Given the description of an element on the screen output the (x, y) to click on. 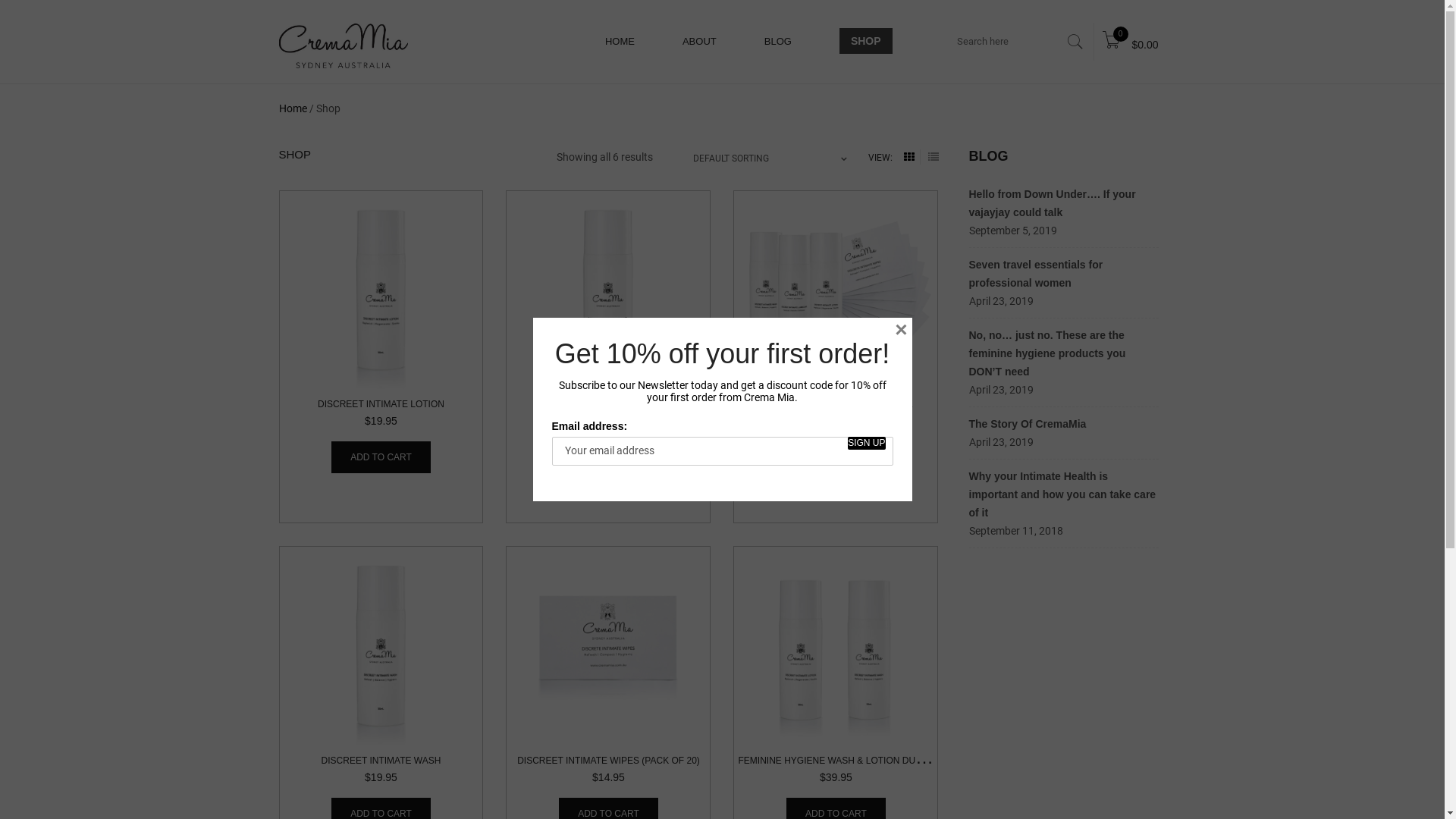
0
$0.00 Element type: text (1129, 41)
ADD TO CART Element type: text (380, 457)
DISCREET INTIMATE LUBRICANT Element type: text (608, 403)
ADD TO CART Element type: text (608, 457)
HOME Element type: text (619, 41)
Home Element type: text (293, 108)
DISCREET INTIMATE WIPES (PACK OF 20) Element type: text (608, 760)
The Story Of CremaMia Element type: text (1027, 423)
ABOUT Element type: text (699, 41)
DISCREET INTIMATE TRAVEL PACK Element type: text (835, 403)
ADD TO CART Element type: text (835, 457)
BLOG Element type: text (777, 41)
DEFAULT SORTING Element type: text (770, 157)
SHOP Element type: text (865, 40)
DISCREET INTIMATE LOTION Element type: text (380, 403)
DISCREET INTIMATE WASH Element type: text (381, 760)
Seven travel essentials for professional women Element type: text (1036, 273)
FEMININE HYGIENE WASH & LOTION DUO WITH FREE SHIPPING Element type: text (878, 760)
Sign up Element type: text (865, 442)
